Given the description of an element on the screen output the (x, y) to click on. 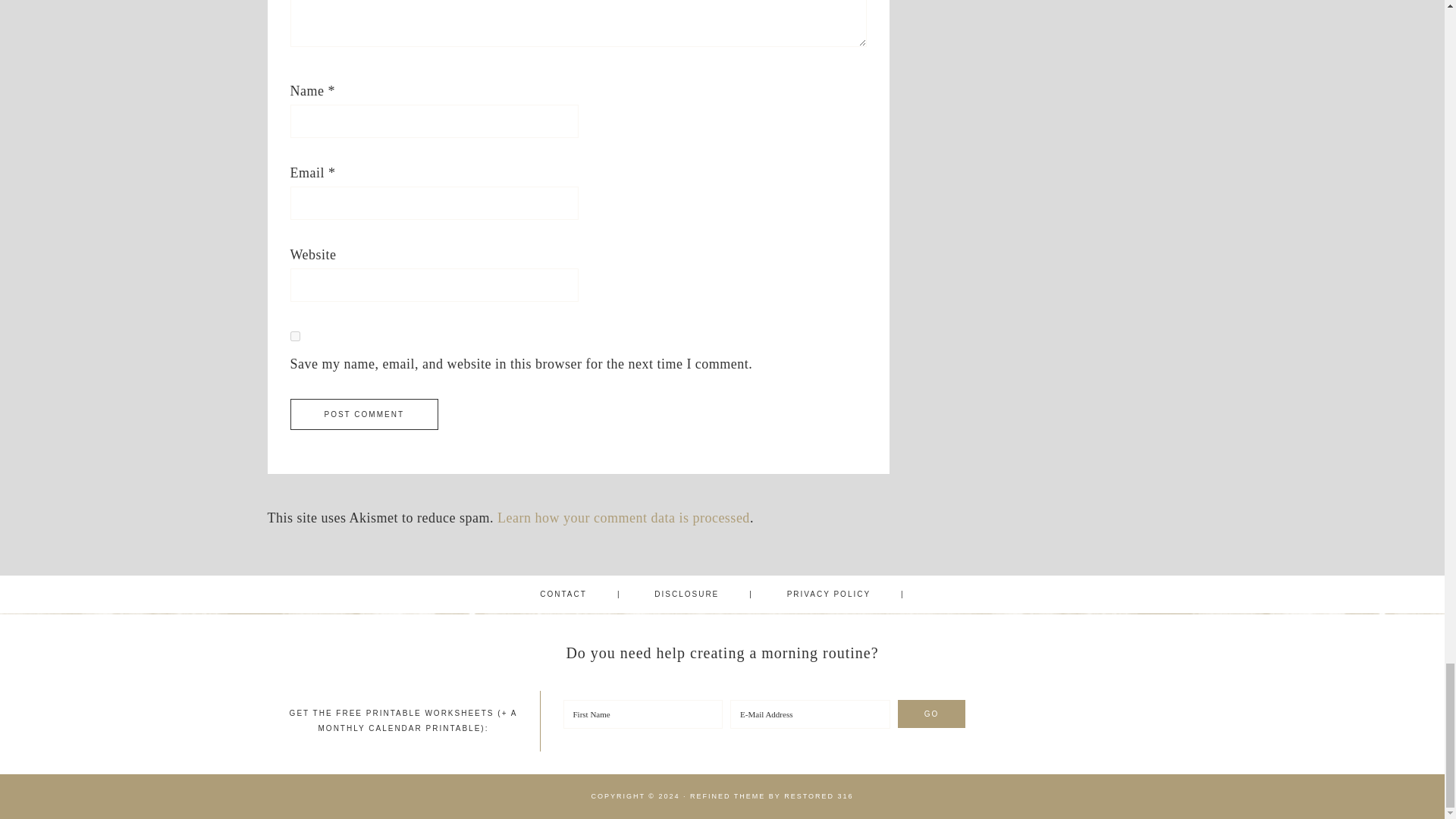
Post Comment (363, 413)
Go (932, 714)
yes (294, 336)
